Given the description of an element on the screen output the (x, y) to click on. 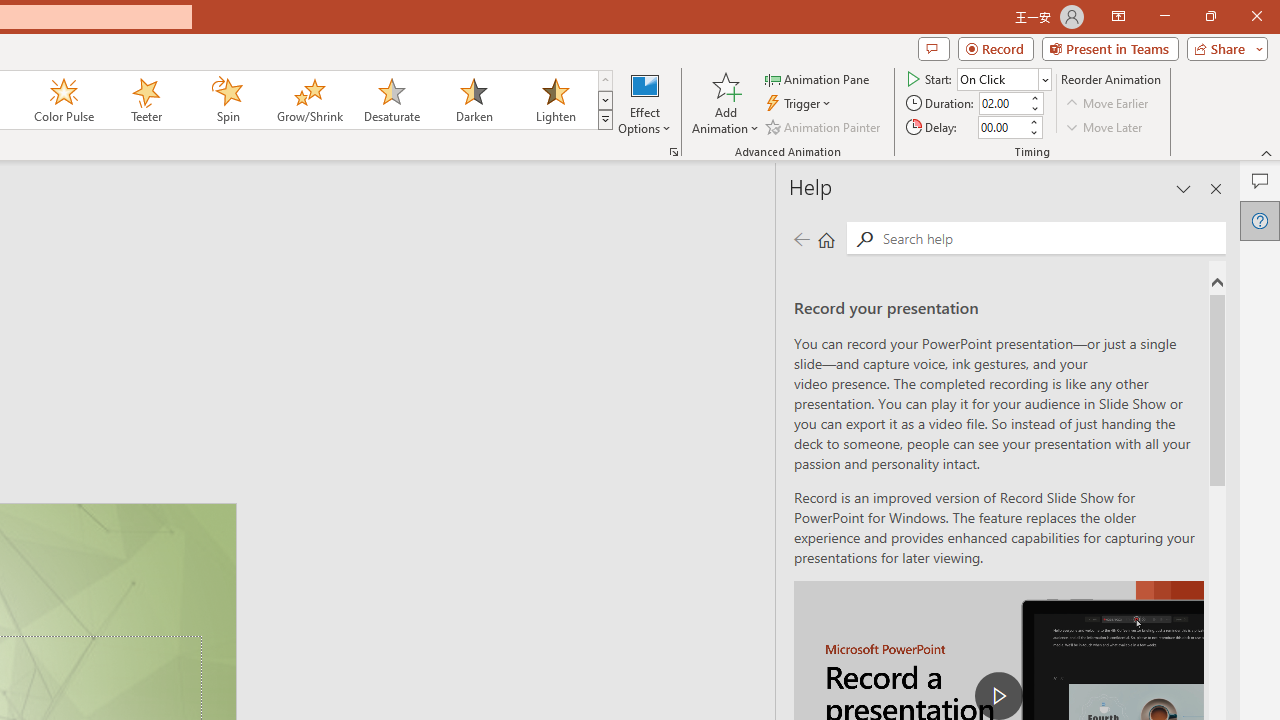
Animation Duration (1003, 103)
Spin (227, 100)
Desaturate (391, 100)
Animation Delay (1002, 127)
Darken (473, 100)
Animation Painter (824, 126)
play Record a Presentation (998, 695)
Color Pulse (63, 100)
